Given the description of an element on the screen output the (x, y) to click on. 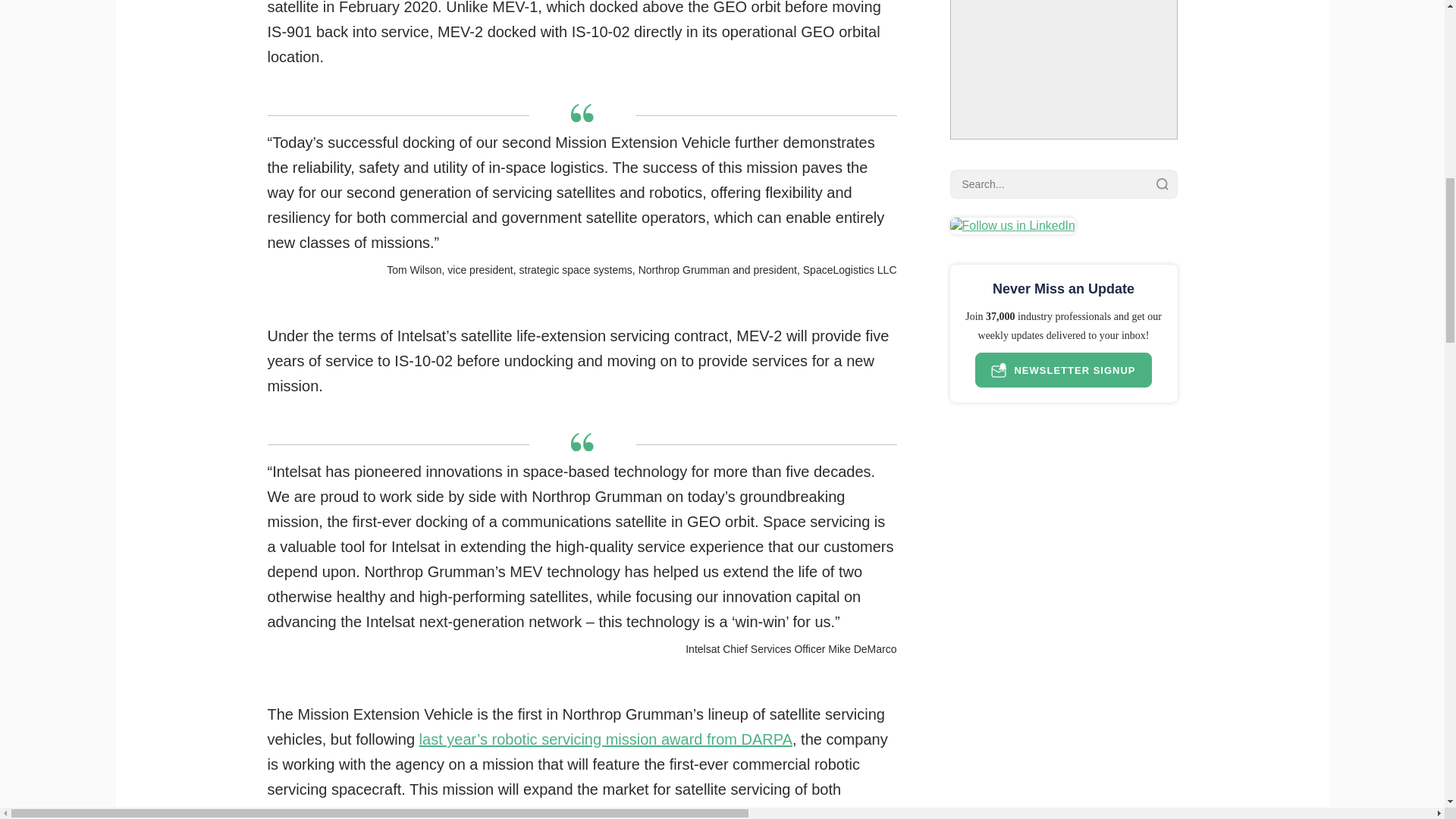
Search (1162, 184)
NEWSLETTER SIGNUP (1063, 369)
Search (1162, 184)
